Given the description of an element on the screen output the (x, y) to click on. 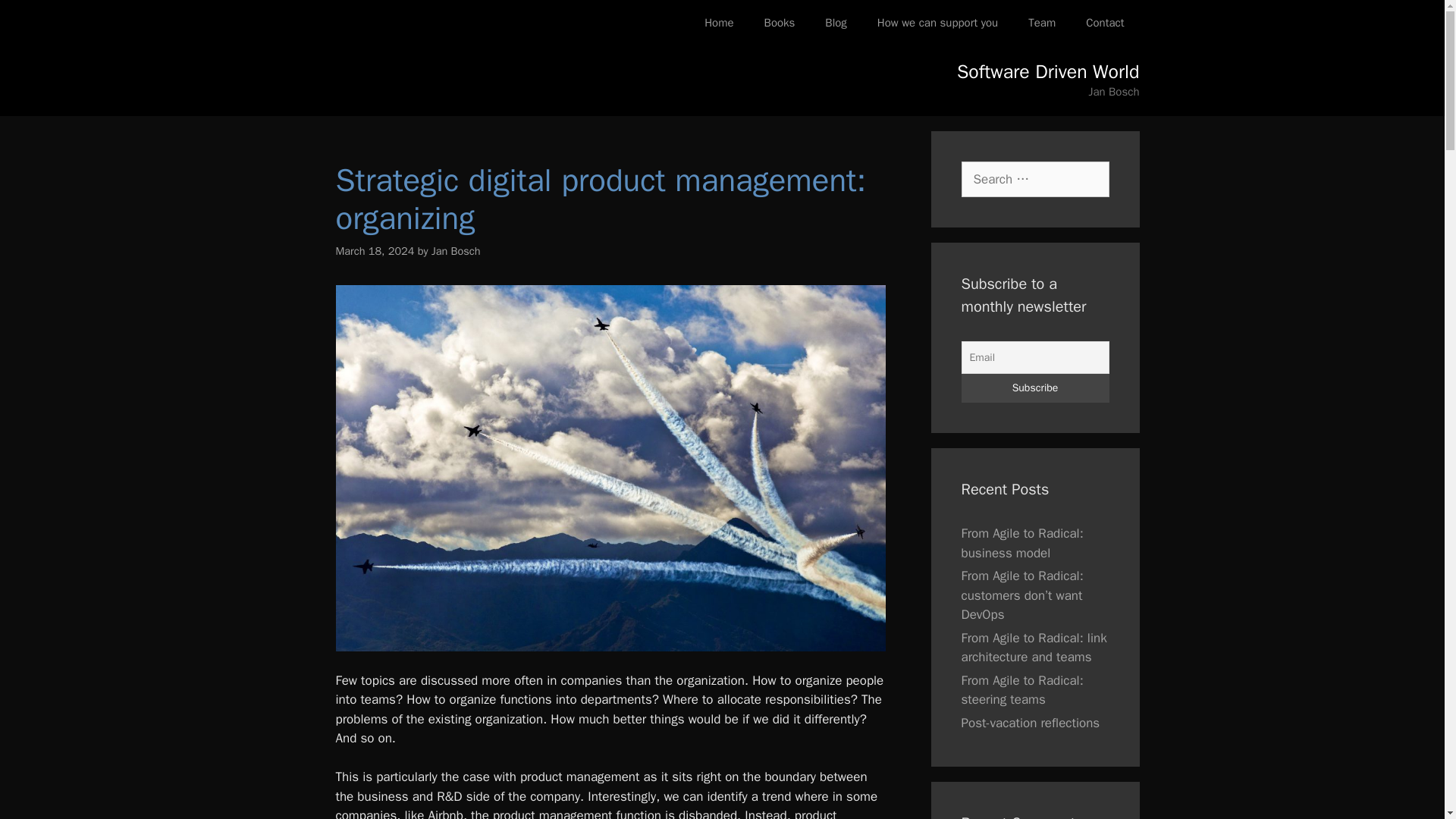
Blog (835, 22)
Subscribe (1034, 387)
From Agile to Radical: business model (1021, 543)
How we can support you (937, 22)
Post-vacation reflections (1030, 722)
Books (779, 22)
Search for: (1034, 178)
Search (35, 18)
Software Driven World (1048, 71)
From Agile to Radical: steering teams (1021, 689)
